Given the description of an element on the screen output the (x, y) to click on. 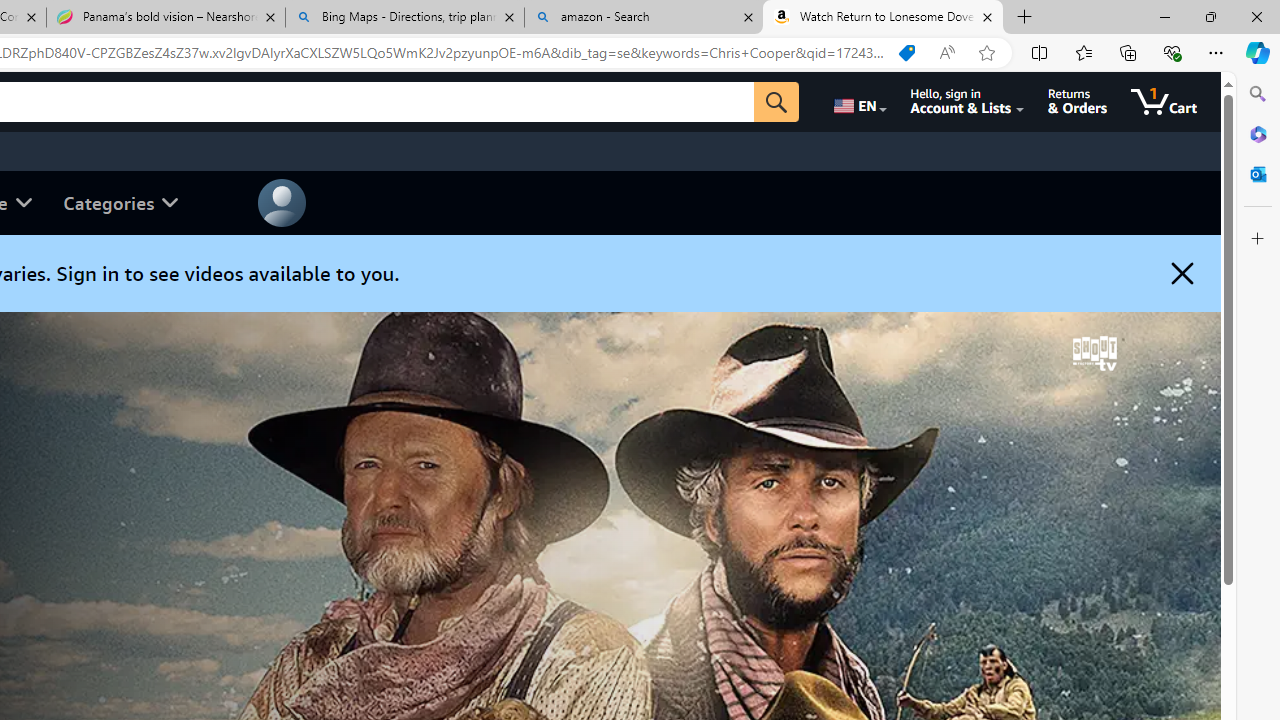
Watch Return to Lonesome Dove Season 1 | Prime Video (883, 17)
Hello, sign in Account & Lists (967, 101)
